Given the description of an element on the screen output the (x, y) to click on. 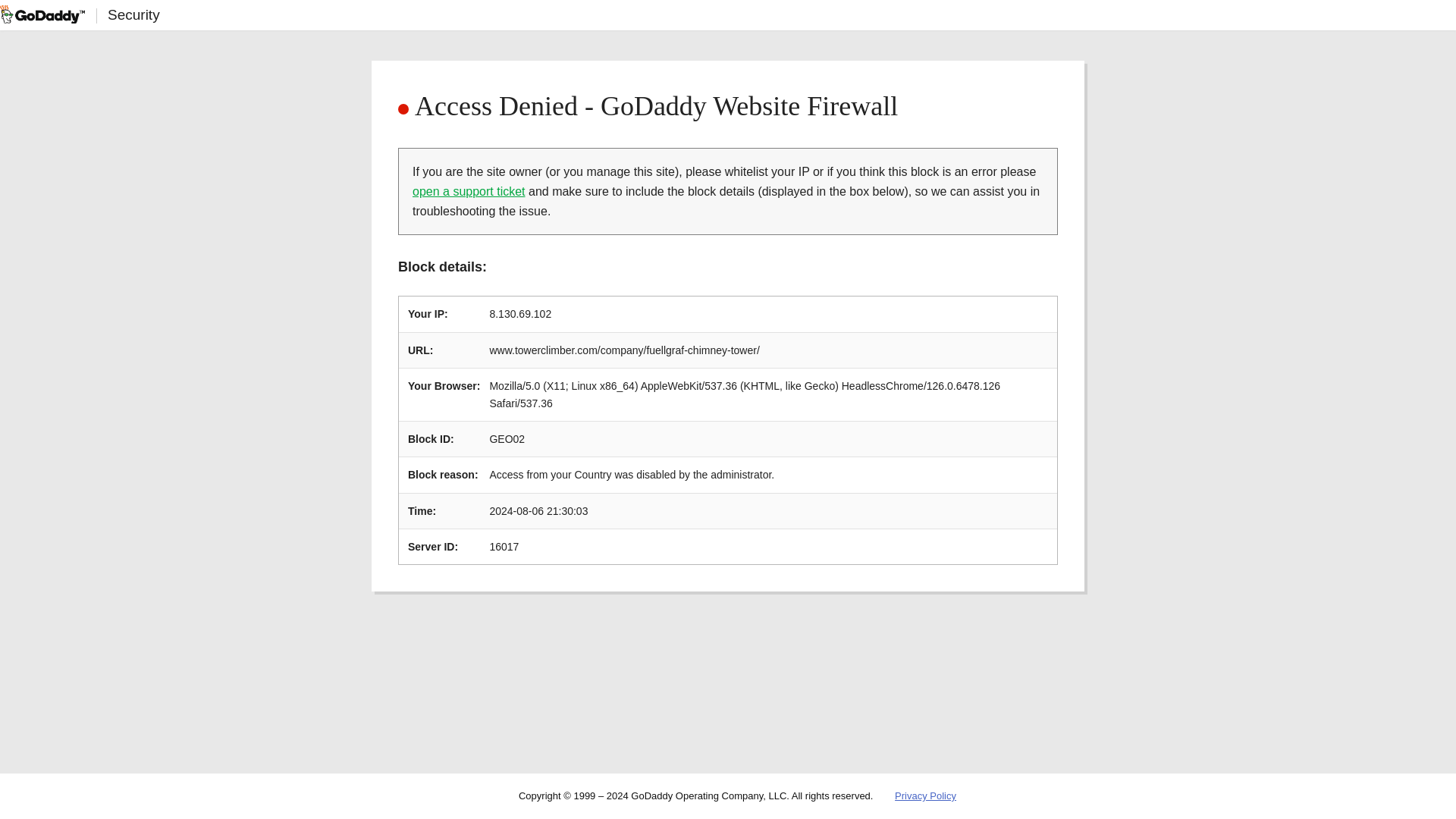
Privacy Policy (925, 795)
open a support ticket (468, 191)
